Given the description of an element on the screen output the (x, y) to click on. 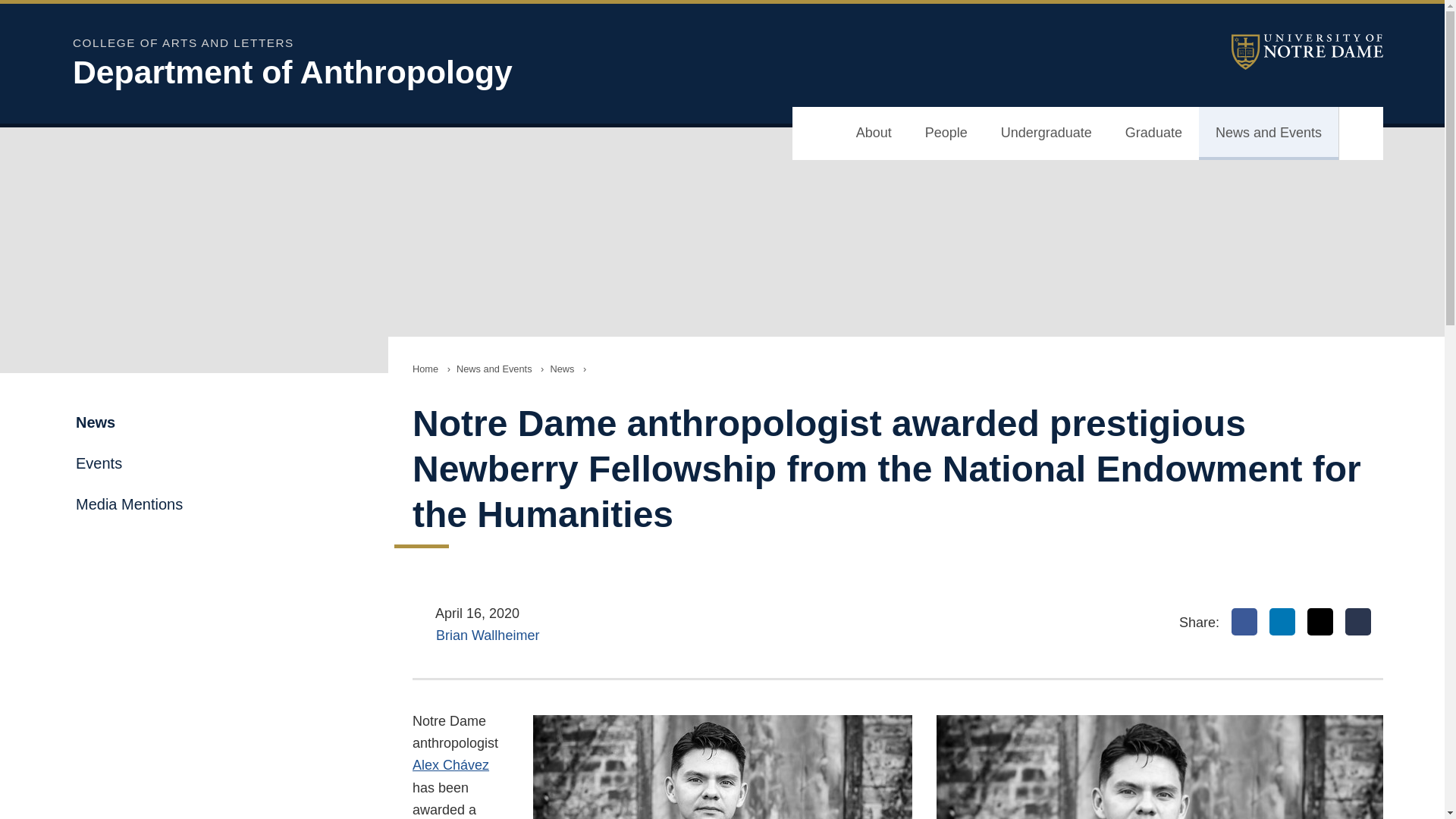
Graduate (1153, 133)
People (946, 133)
University of Notre Dame (1307, 51)
LinkedIn (1282, 621)
About (874, 133)
News and Events (493, 368)
News (561, 368)
Facebook (1244, 621)
Home (425, 368)
Email (1358, 621)
Undergraduate (1046, 133)
Department of Anthropology (466, 72)
News and Events (1268, 133)
Brian Wallheimer (486, 635)
